Given the description of an element on the screen output the (x, y) to click on. 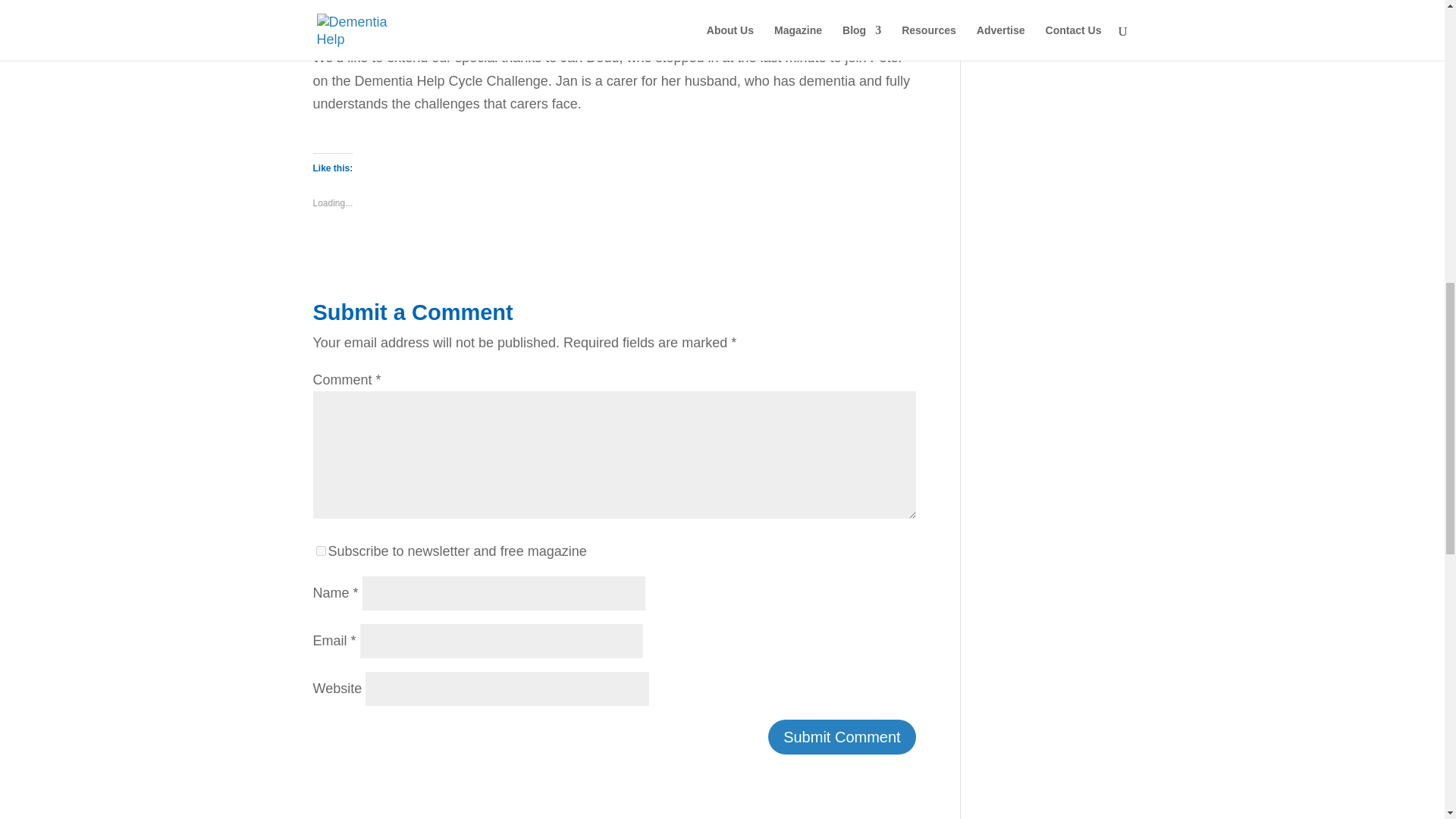
Submit Comment (841, 736)
Submit Comment (841, 736)
1 (319, 551)
